Given the description of an element on the screen output the (x, y) to click on. 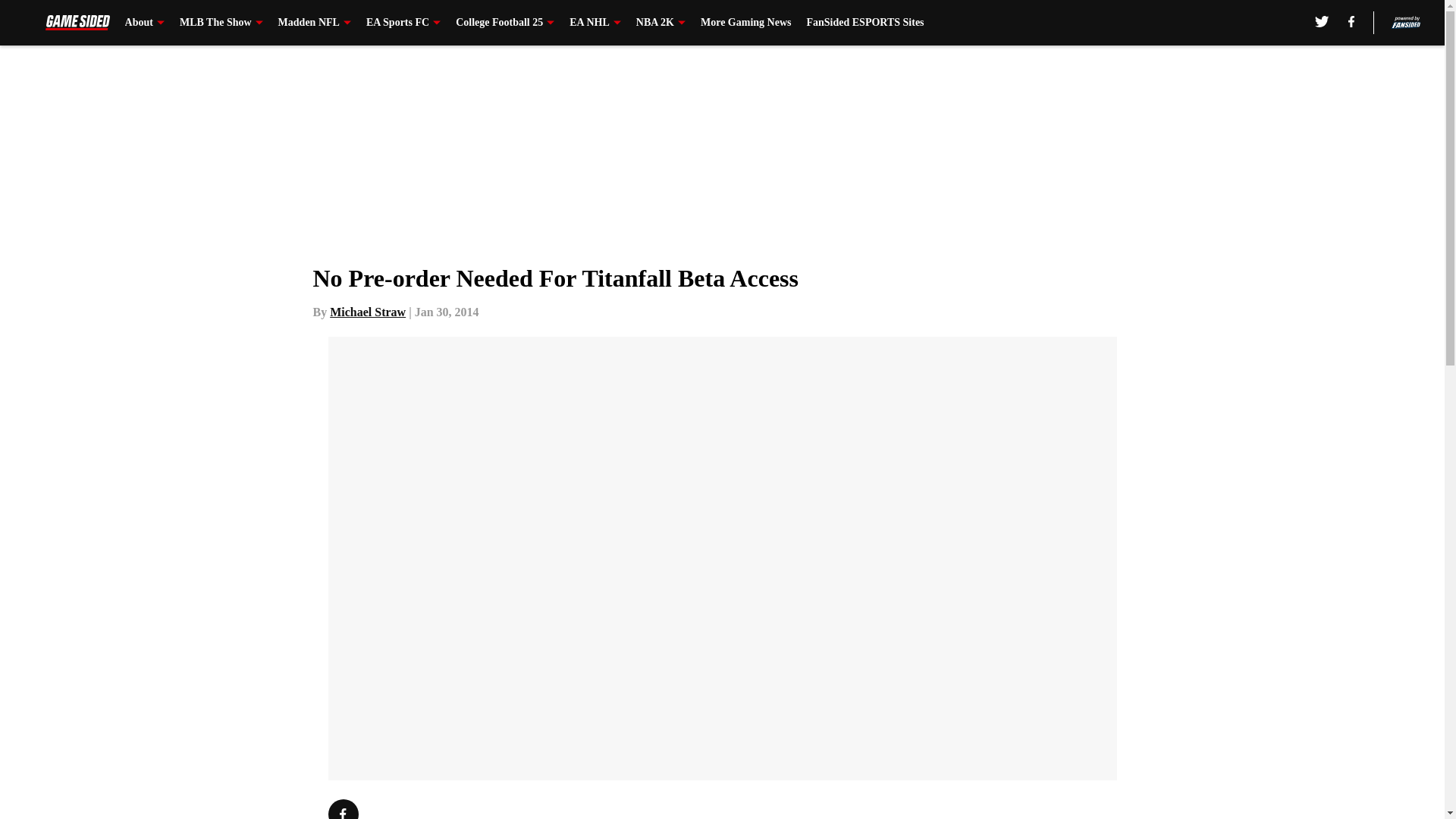
More Gaming News (746, 22)
Michael Straw (368, 311)
FanSided ESPORTS Sites (864, 22)
